Given the description of an element on the screen output the (x, y) to click on. 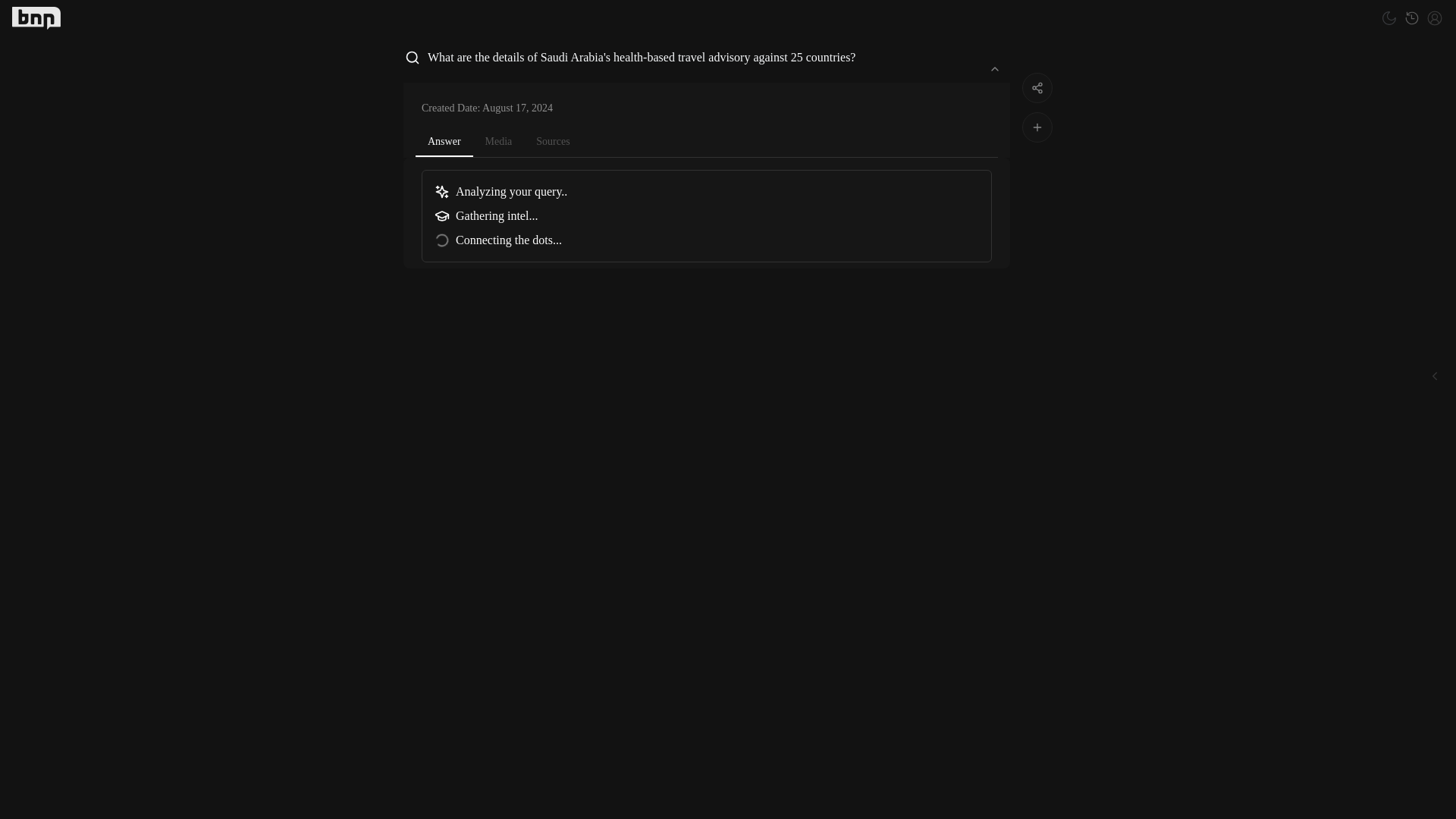
BNNGPT (36, 17)
collapse (994, 68)
Answer (443, 142)
Media (498, 141)
Sources (552, 141)
Toggle theme (1388, 17)
